Given the description of an element on the screen output the (x, y) to click on. 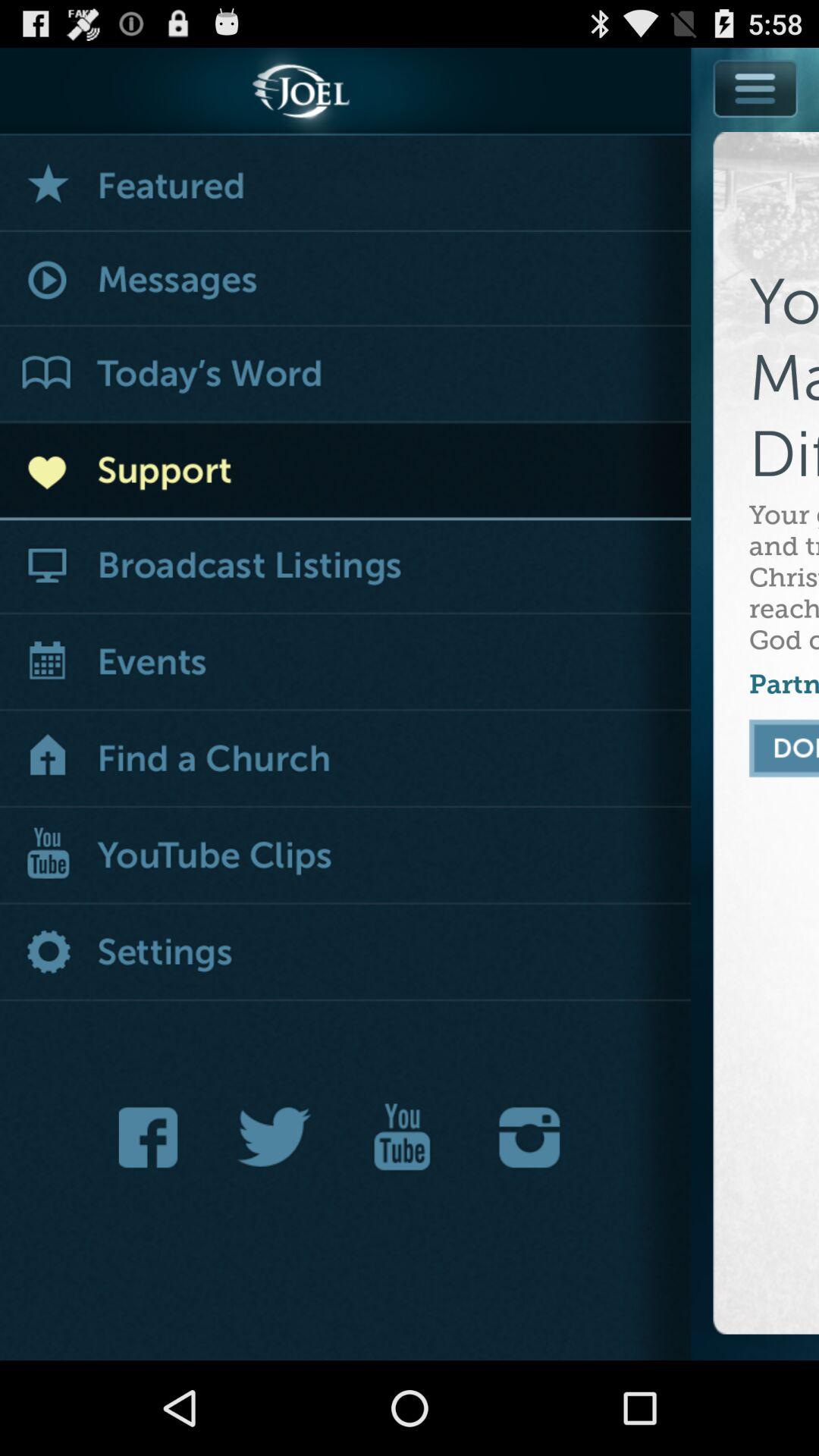
finish set up (784, 748)
